Given the description of an element on the screen output the (x, y) to click on. 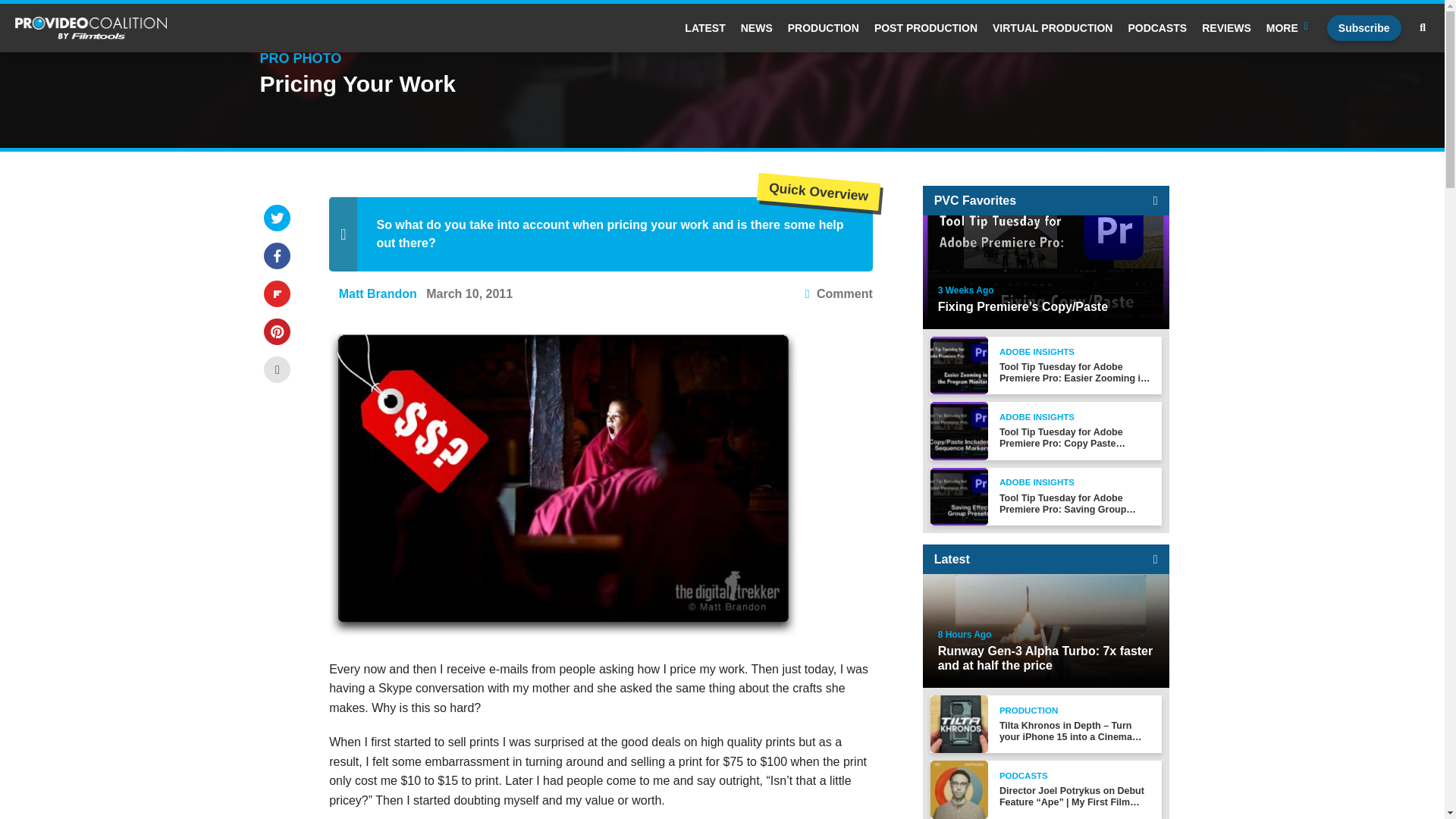
REVIEWS (1226, 27)
More   (1288, 27)
NEWS (757, 27)
Subscribe (1363, 27)
Search (1422, 27)
Reviews (1226, 27)
VIRTUAL PRODUCTION (1052, 27)
MORE (1288, 27)
Search (644, 274)
Podcasts (1156, 27)
